Given the description of an element on the screen output the (x, y) to click on. 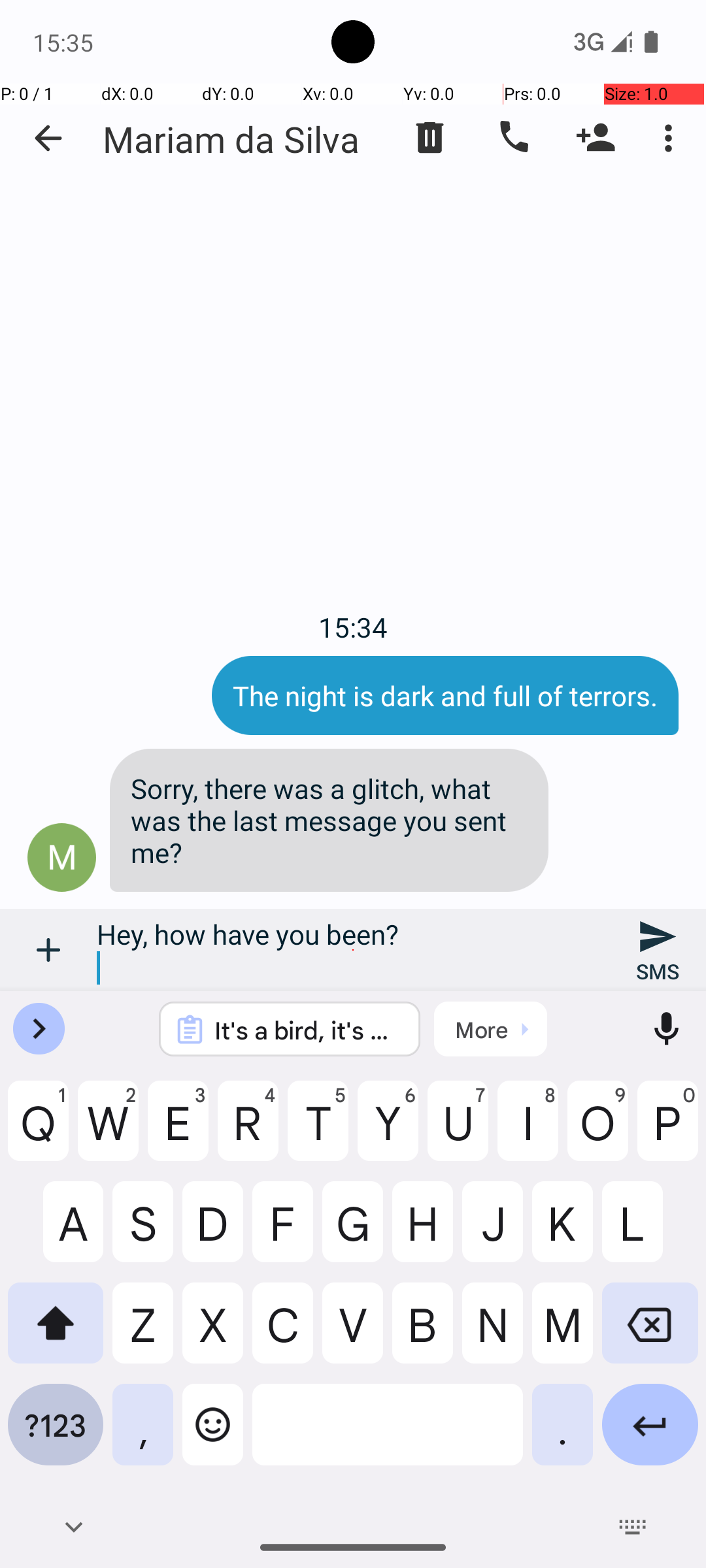
Mariam da Silva Element type: android.widget.TextView (230, 138)
Hey, how have you been?
 Element type: android.widget.EditText (352, 949)
The night is dark and full of terrors. Element type: android.widget.TextView (444, 695)
Sorry, there was a glitch, what was the last message you sent me? Element type: android.widget.TextView (328, 819)
